Given the description of an element on the screen output the (x, y) to click on. 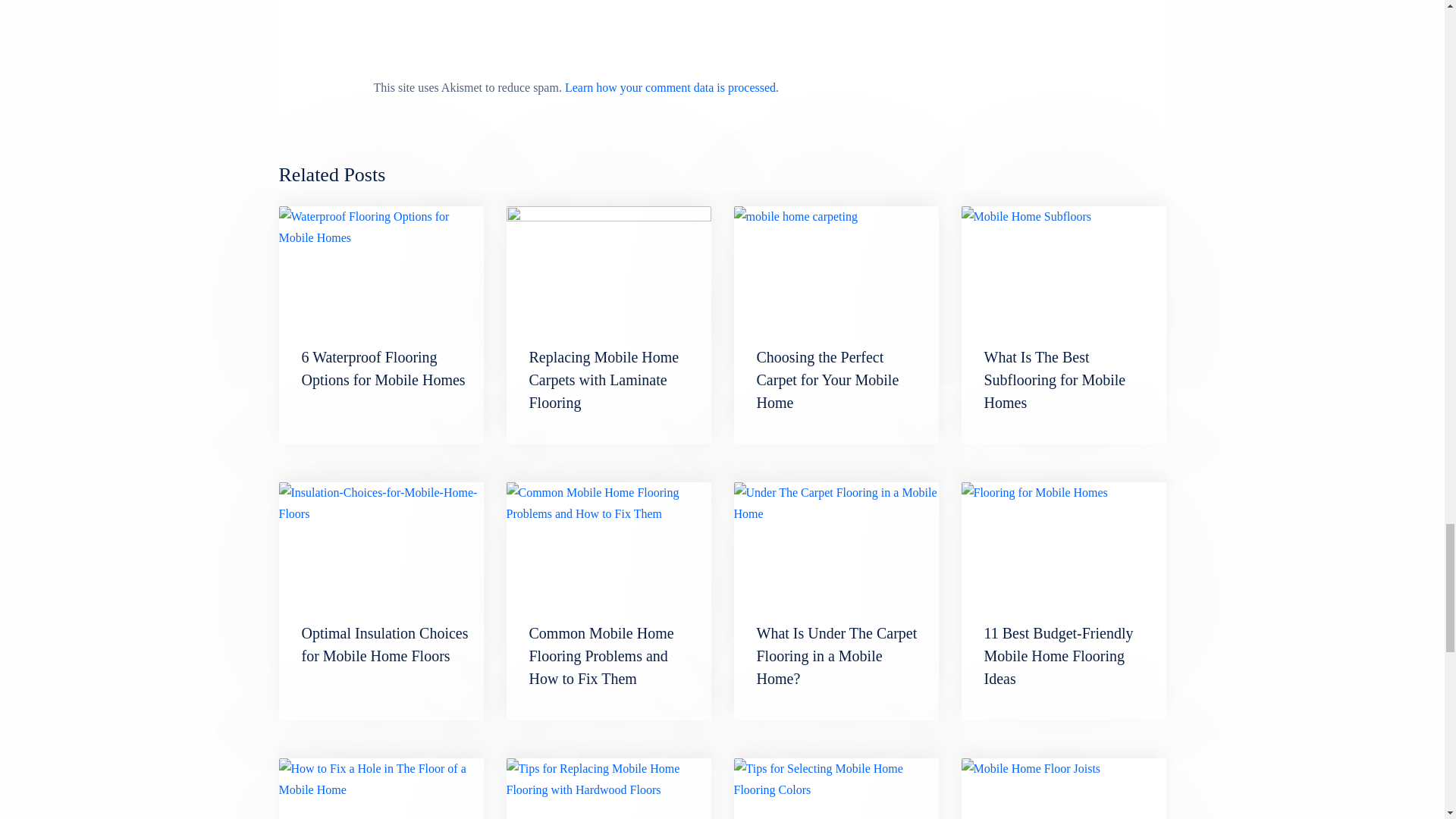
6 Waterproof Flooring Options for Mobile Homes (383, 368)
What Is The Best Subflooring for Mobile Homes (1063, 264)
Comment Form (721, 35)
Replacing Mobile Home Carpets with Laminate Flooring (604, 379)
Learn how your comment data is processed (670, 87)
Choosing the Perfect Carpet for Your Mobile Home (828, 379)
Optimal Insulation Choices for Mobile Home Floors (384, 644)
Choosing the Perfect Carpet for Your Mobile Home (836, 264)
Replacing Mobile Home Carpets with Laminate Flooring (604, 379)
Optimal Insulation Choices for Mobile Home Floors (384, 644)
